Given the description of an element on the screen output the (x, y) to click on. 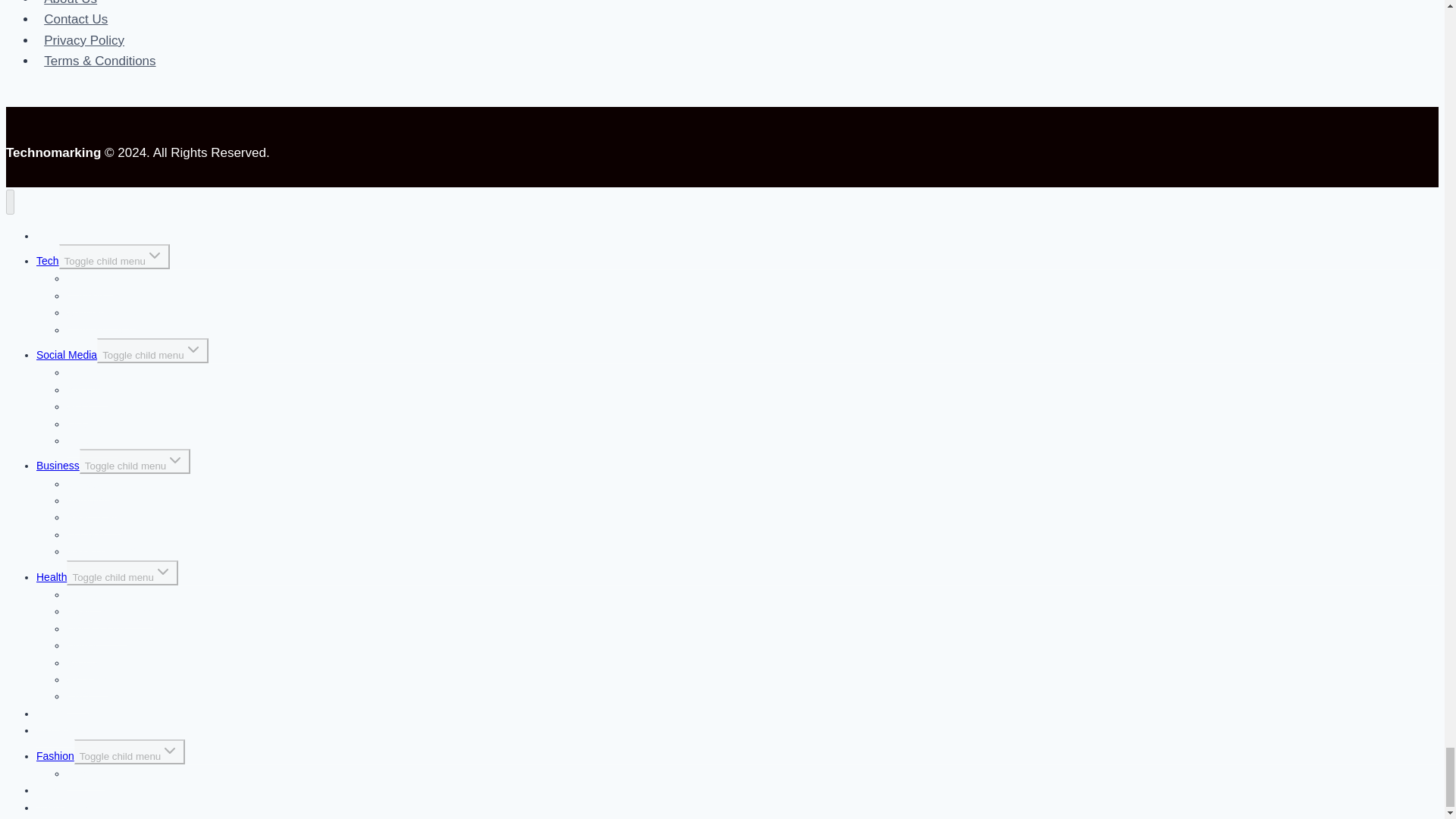
Expand (193, 349)
Expand (154, 255)
Expand (162, 571)
Expand (174, 460)
